Given the description of an element on the screen output the (x, y) to click on. 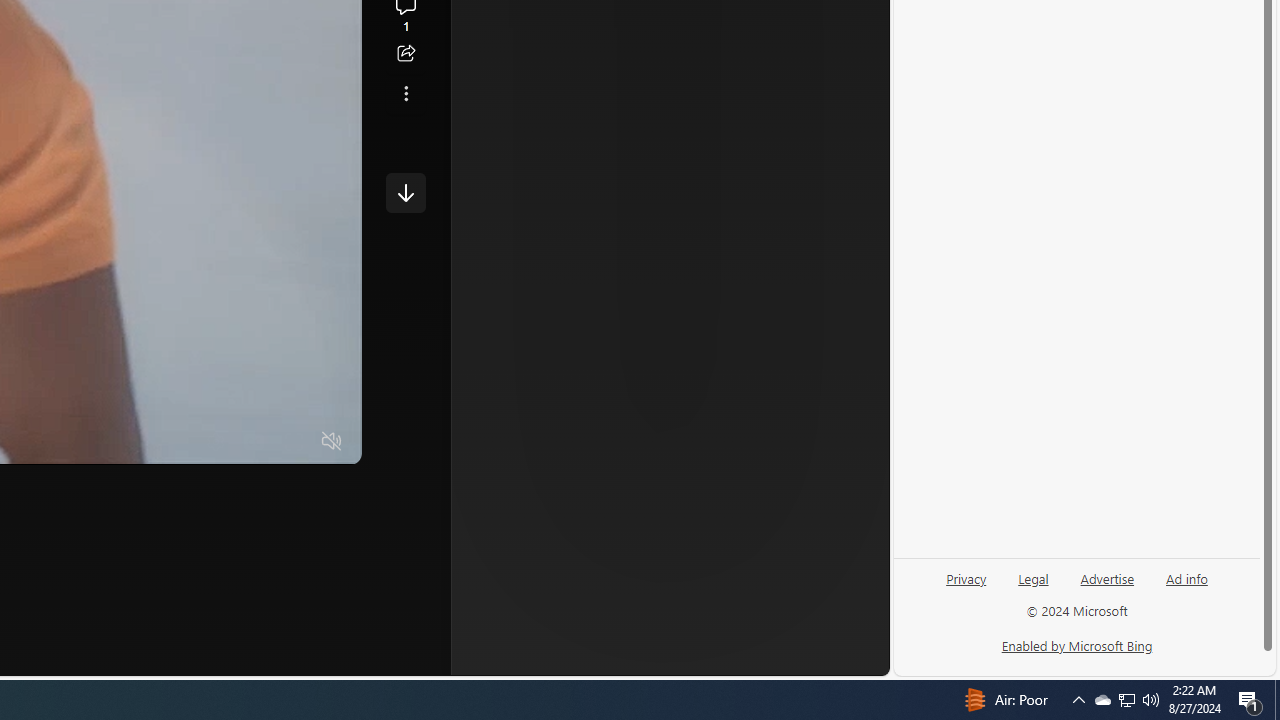
Advertise (1107, 577)
Feedback (814, 659)
Class: control (406, 192)
Captions (253, 442)
Legal (1033, 577)
ABC News (584, 12)
Ad info (1187, 577)
Ad info (1186, 586)
Nordace (613, 337)
Legal (1033, 586)
Quality Settings (214, 442)
Class: at-item detail-page (406, 93)
